Given the description of an element on the screen output the (x, y) to click on. 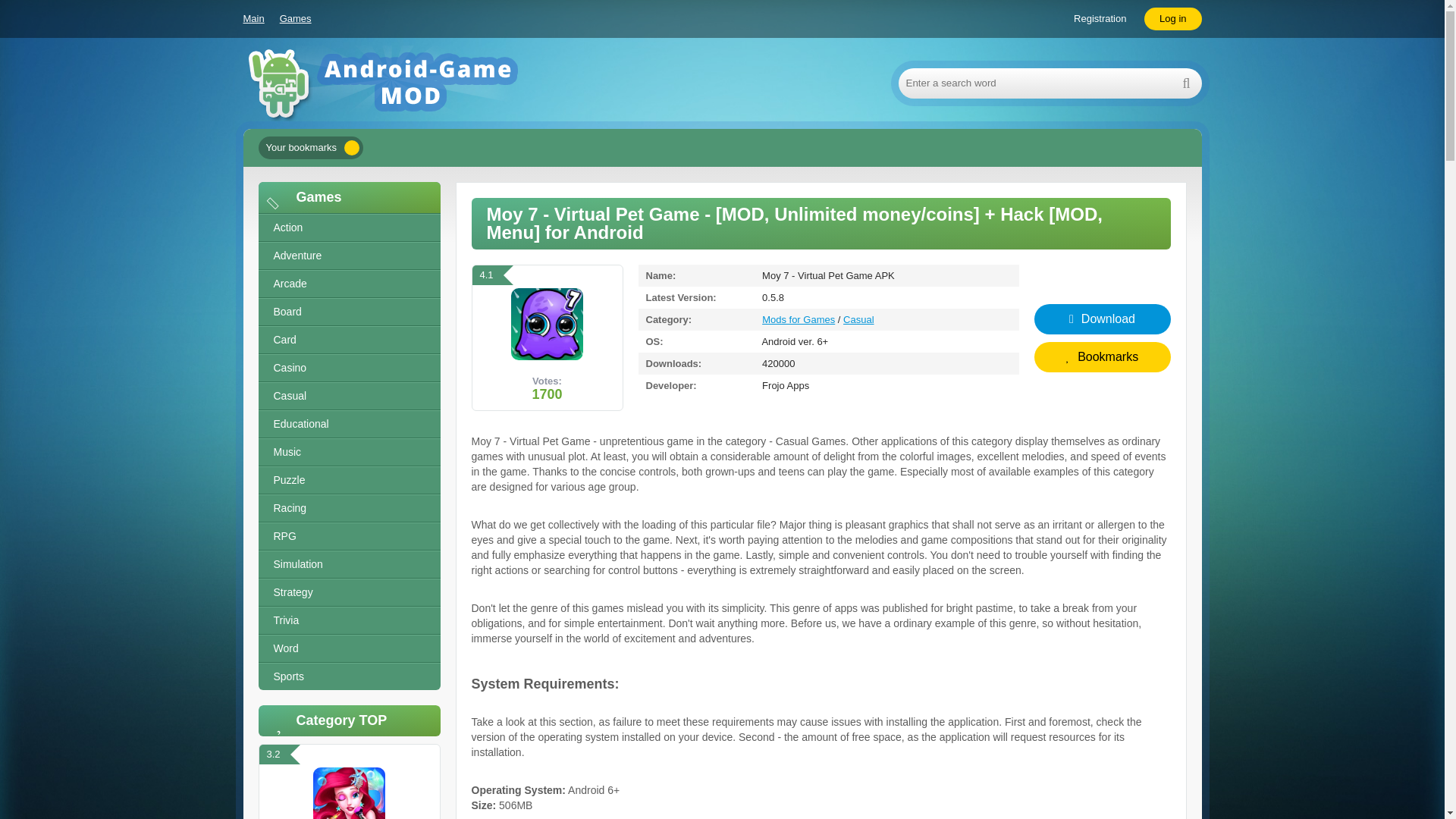
Your bookmarks (309, 147)
Sports (348, 676)
Action (348, 227)
Strategy (348, 592)
Educational (348, 424)
Card (348, 339)
Puzzle (348, 480)
Bookmarks (1101, 356)
RPG (348, 536)
Racing (348, 508)
Games (295, 18)
Registration (1099, 18)
Adventure (348, 255)
Simulation (348, 564)
Trivia (348, 620)
